Given the description of an element on the screen output the (x, y) to click on. 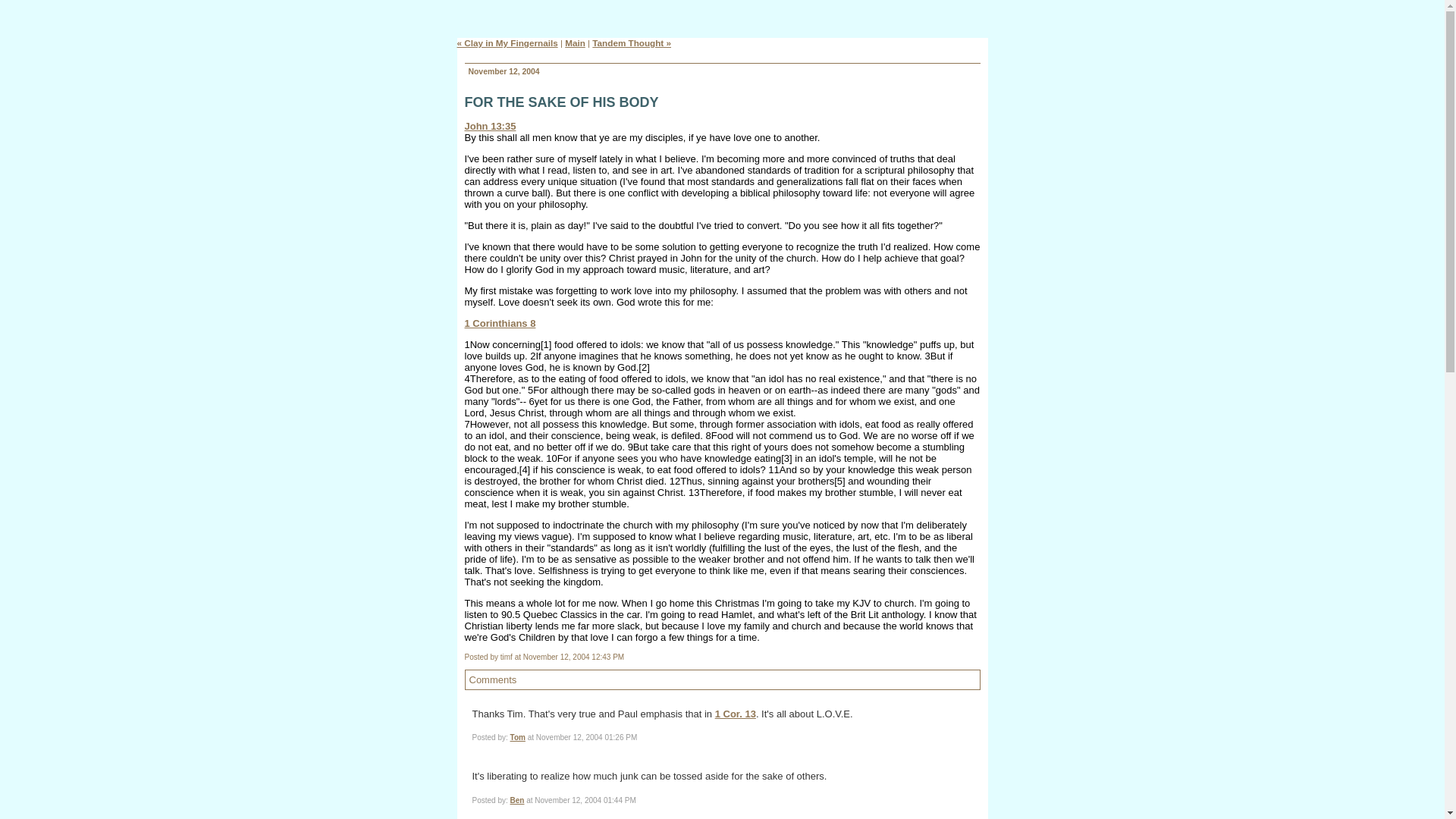
Bible Gateway (489, 125)
Tom (518, 737)
1 Corinthians 8 (499, 323)
John 13:35 (489, 125)
Ben (517, 800)
Bible Gateway (499, 323)
